Given the description of an element on the screen output the (x, y) to click on. 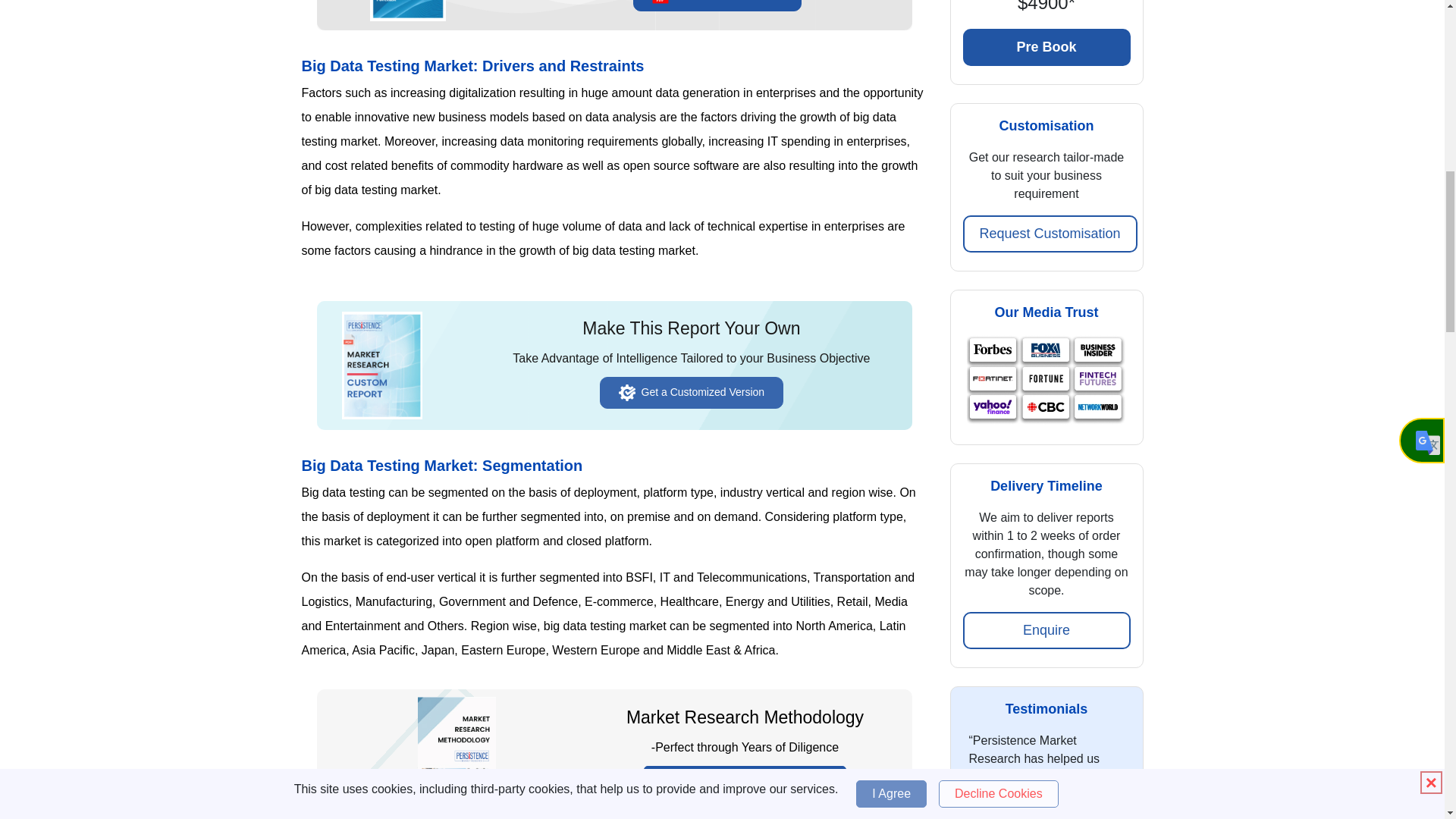
Request Customisation (1049, 233)
Check Research Methodology (744, 781)
Enquire (1046, 630)
Get Report Sample (716, 5)
Pre Book (1046, 47)
